Given the description of an element on the screen output the (x, y) to click on. 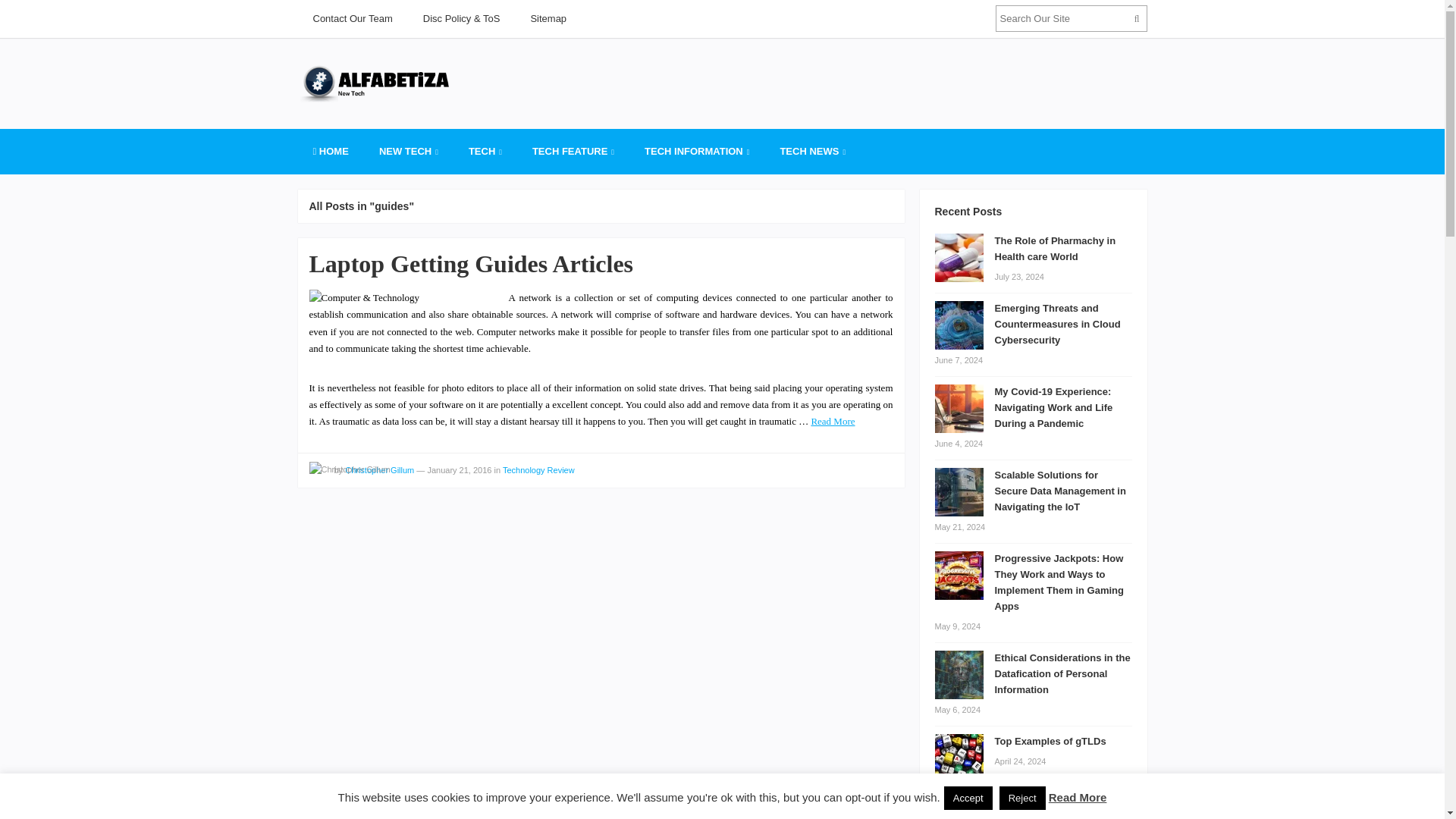
Sitemap (547, 18)
Contact Our Team (352, 18)
